Given the description of an element on the screen output the (x, y) to click on. 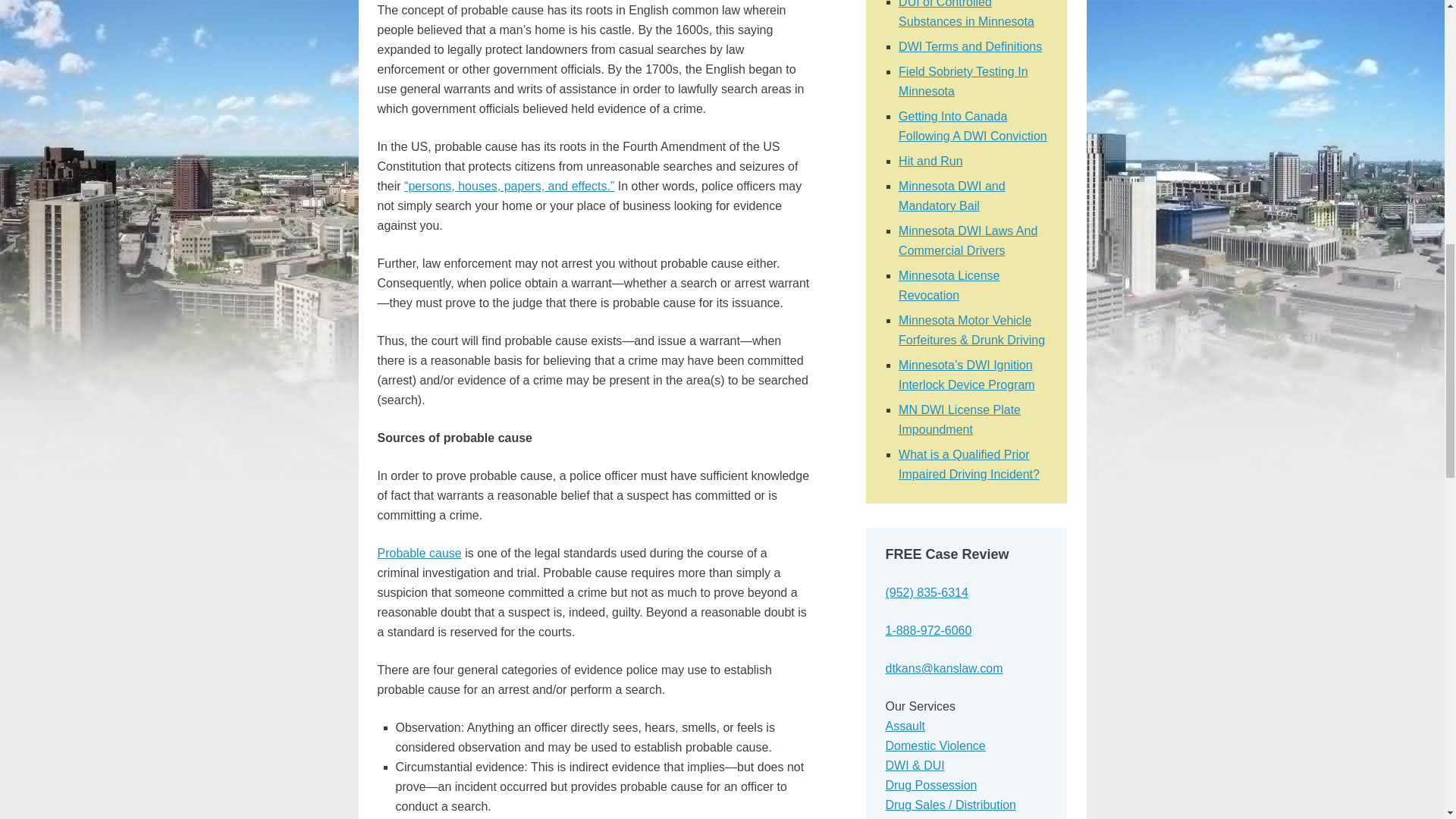
Probable cause (419, 553)
DUI of Controlled Substances in Minnesota (965, 13)
